Given the description of an element on the screen output the (x, y) to click on. 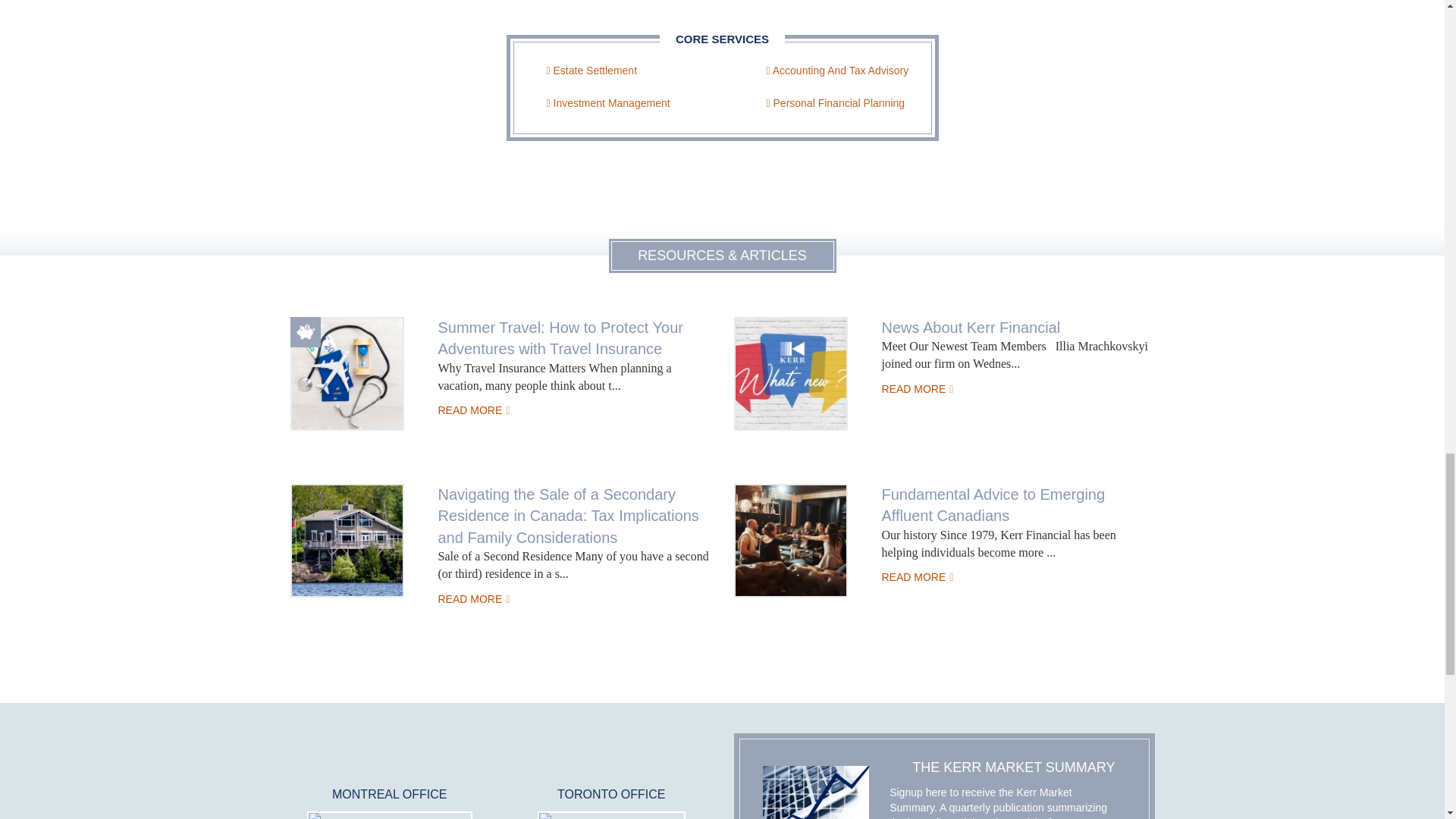
Accounting And Tax Advisory (836, 70)
Investment Management (607, 102)
Personal Financial Planning (834, 102)
Estate Settlement (591, 70)
